Given the description of an element on the screen output the (x, y) to click on. 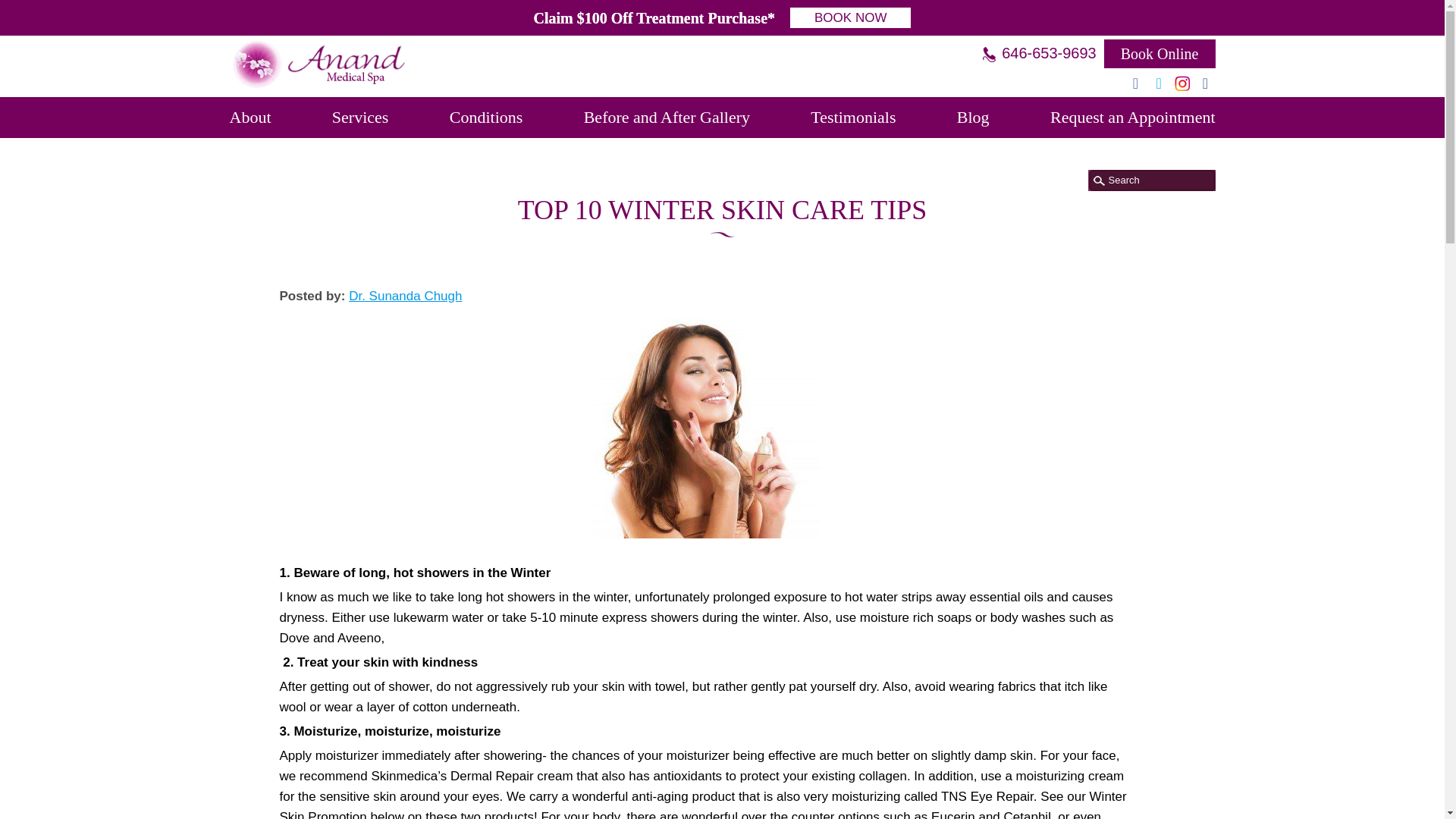
Conditions (485, 117)
646-653-9693 (1039, 53)
BOOK NOW (850, 17)
Book Online (1159, 53)
Services (359, 117)
Search (1153, 179)
Posts by Dr. Sunanda Chugh (405, 296)
About (249, 117)
